Given the description of an element on the screen output the (x, y) to click on. 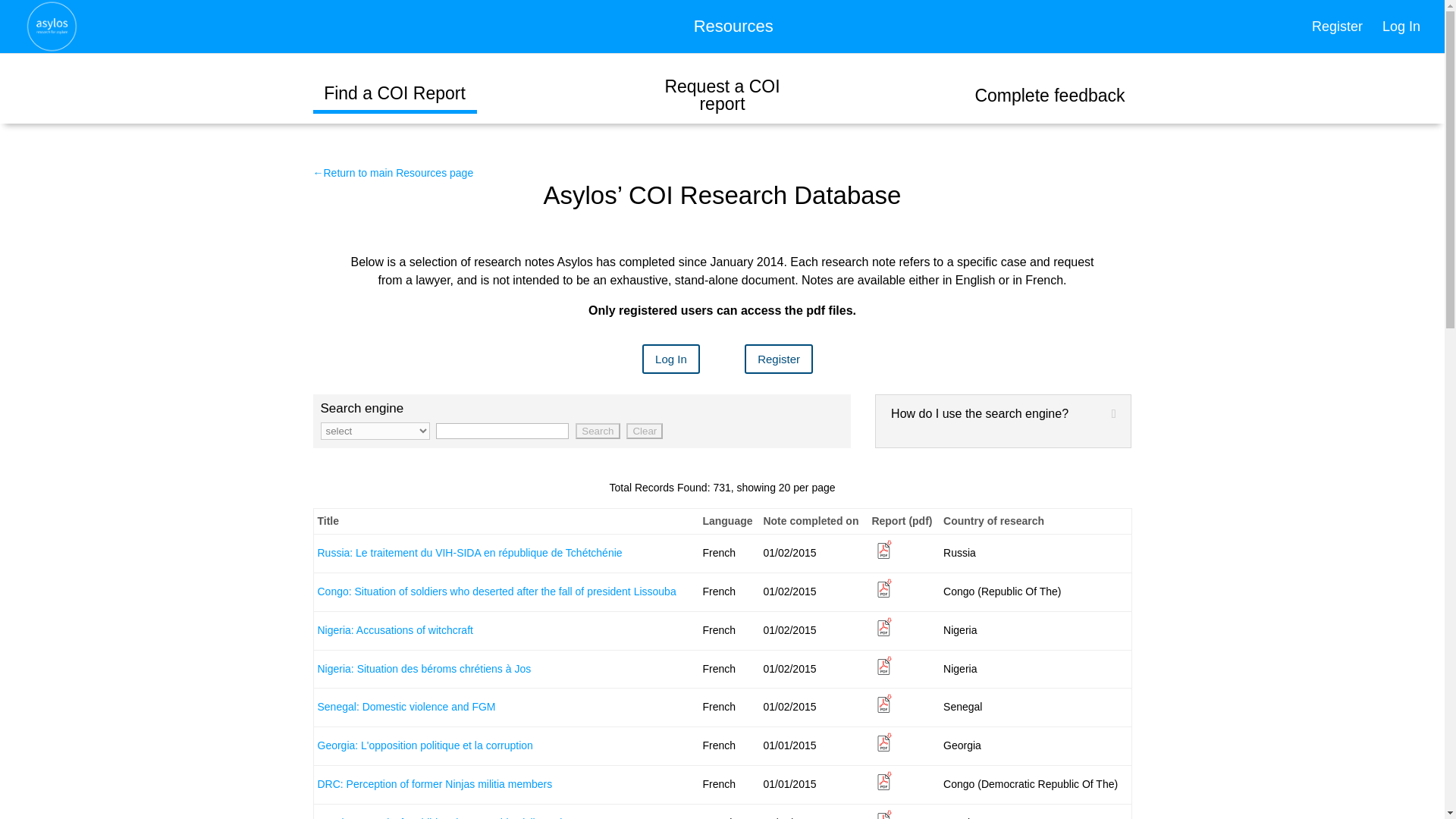
Register (581, 421)
Search (1336, 37)
Clear (597, 430)
Nigeria: Accusations of witchcraft (644, 430)
Senegal: Domestic violence and FGM (394, 630)
Log In (406, 706)
Clear (671, 358)
Resources (644, 430)
Georgia: L'opposition politique et la corruption (733, 37)
